Given the description of an element on the screen output the (x, y) to click on. 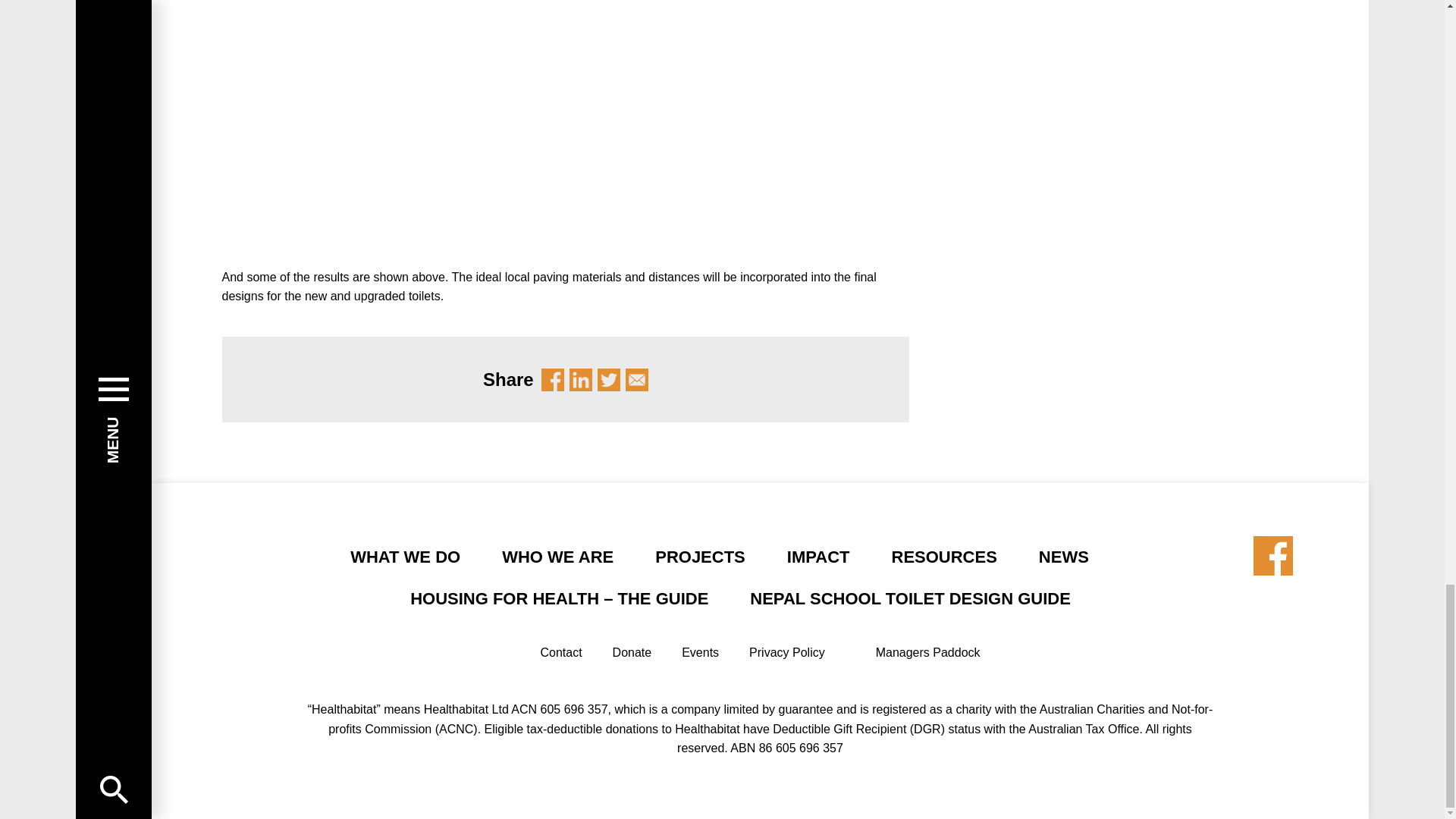
RESOURCES (944, 556)
Share by Facebook (1272, 555)
Share by Email (636, 378)
Contact (560, 652)
LINKEDIN (580, 378)
NEPAL SCHOOL TOILET DESIGN GUIDE (909, 598)
TWITTER (608, 378)
Donate (632, 652)
PROJECTS (700, 556)
Slide2 (391, 134)
